Given the description of an element on the screen output the (x, y) to click on. 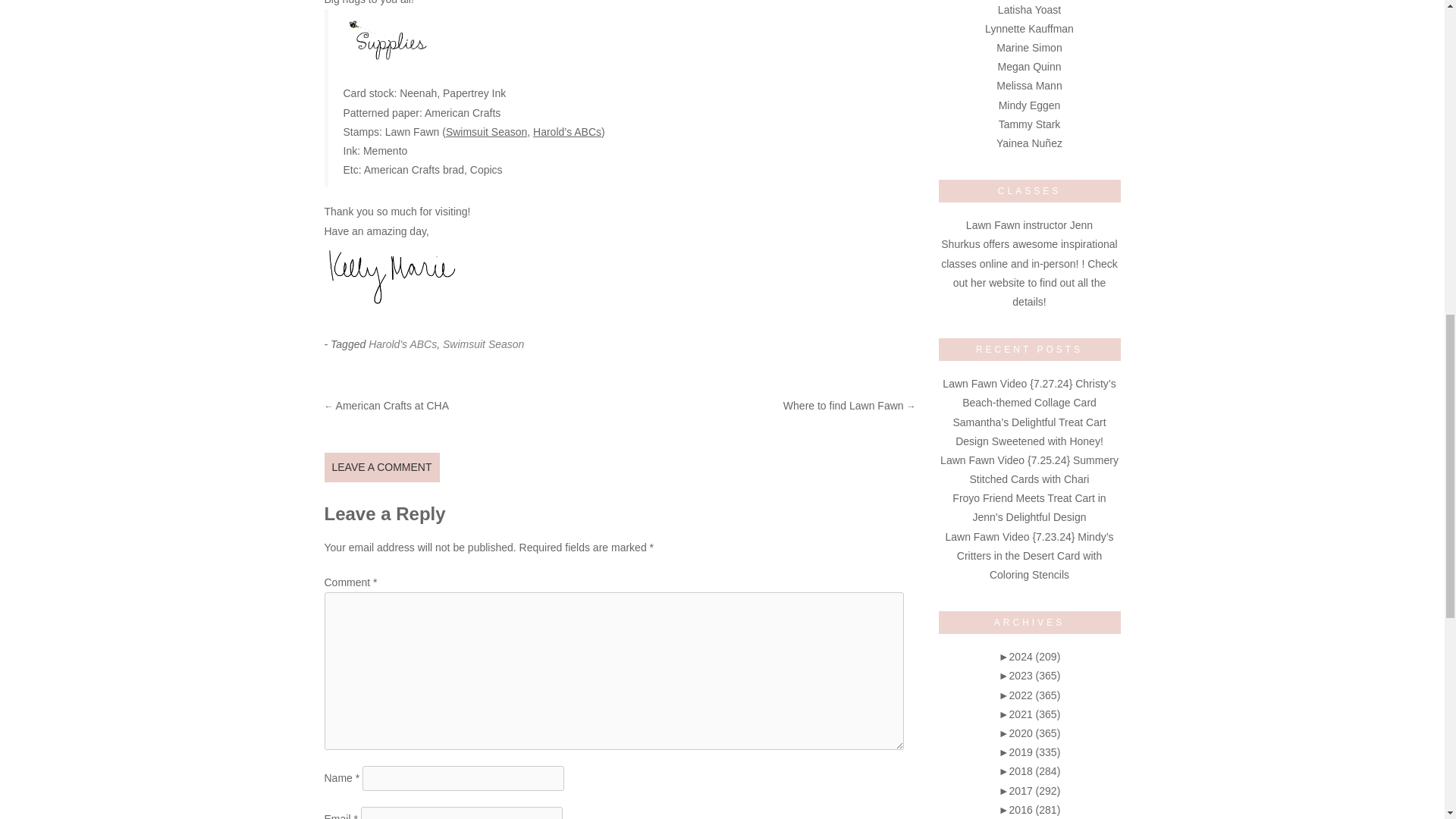
Swimsuit Season (483, 344)
LEAVE A COMMENT (381, 467)
Swimsuit Season (486, 132)
Harold's ABCs (402, 344)
click to expand (1029, 656)
